Given the description of an element on the screen output the (x, y) to click on. 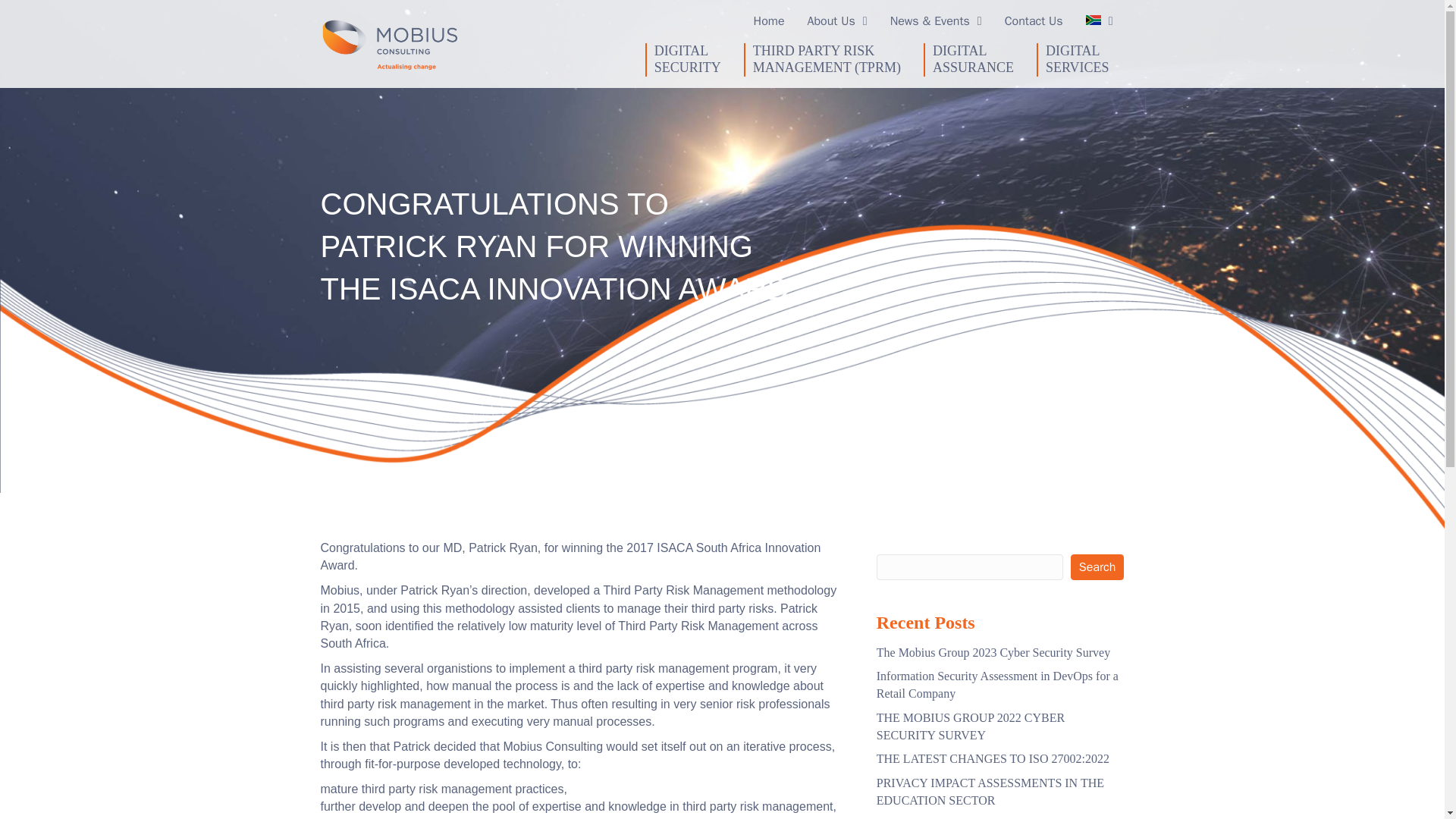
Contact Us (1033, 21)
Home (768, 21)
About Us (837, 21)
Mobius-2019-Logo-CMYK-Colour (388, 43)
